Given the description of an element on the screen output the (x, y) to click on. 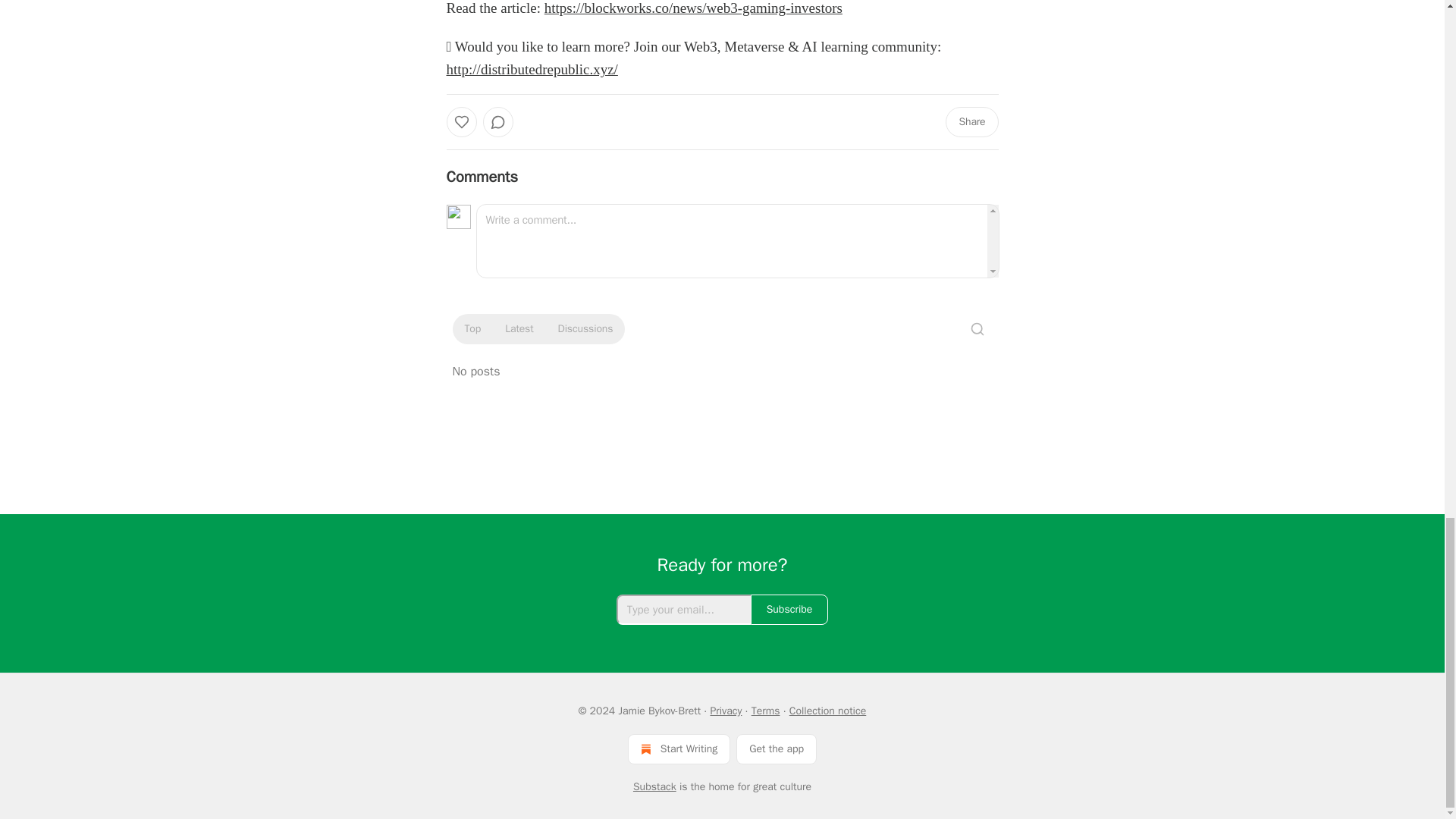
Subscribe (789, 609)
Discussions (585, 328)
Top (471, 328)
Share (970, 122)
Latest (518, 328)
